Given the description of an element on the screen output the (x, y) to click on. 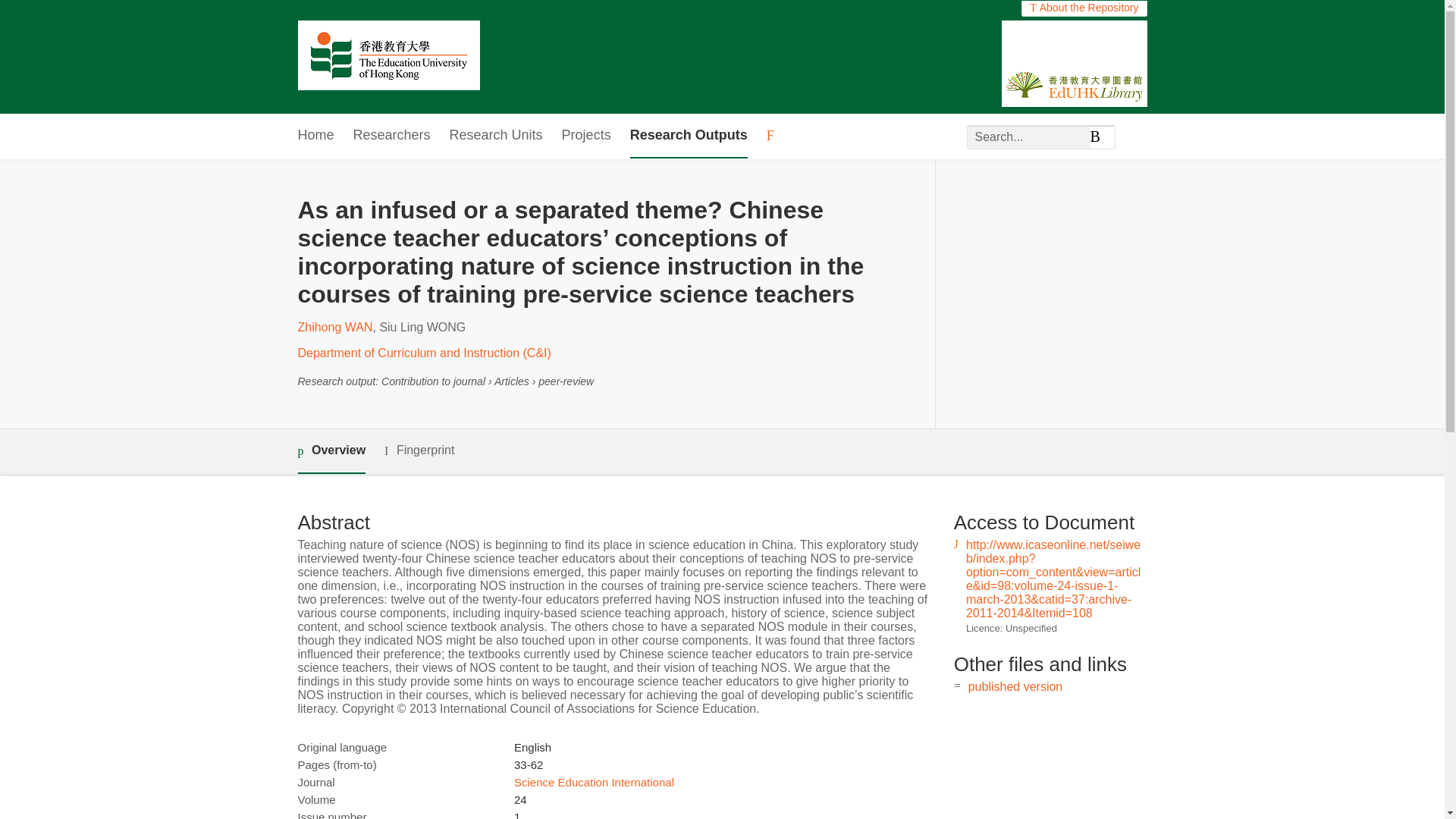
Research Units (496, 135)
Projects (586, 135)
Fingerprint (419, 450)
Zhihong WAN (334, 327)
published version (1015, 686)
Overview (331, 451)
Researchers (391, 135)
EdUHK Research Repository Home (388, 56)
Research Outputs (689, 135)
